Given the description of an element on the screen output the (x, y) to click on. 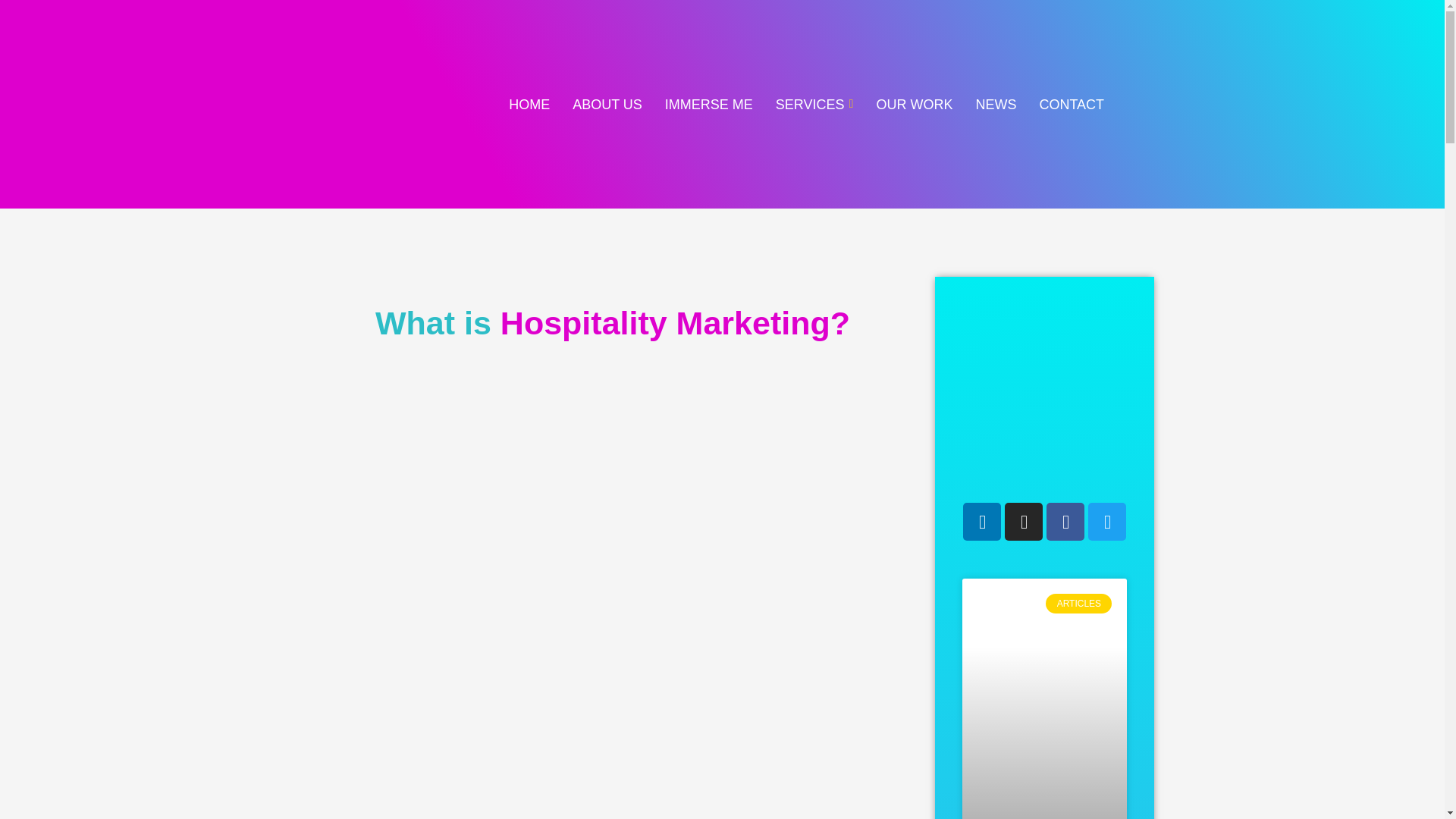
HOME (528, 104)
What is Hospitality Marketing? 2 (1044, 385)
IMMERSE ME (708, 104)
SERVICES (814, 104)
ABOUT US (606, 104)
